Given the description of an element on the screen output the (x, y) to click on. 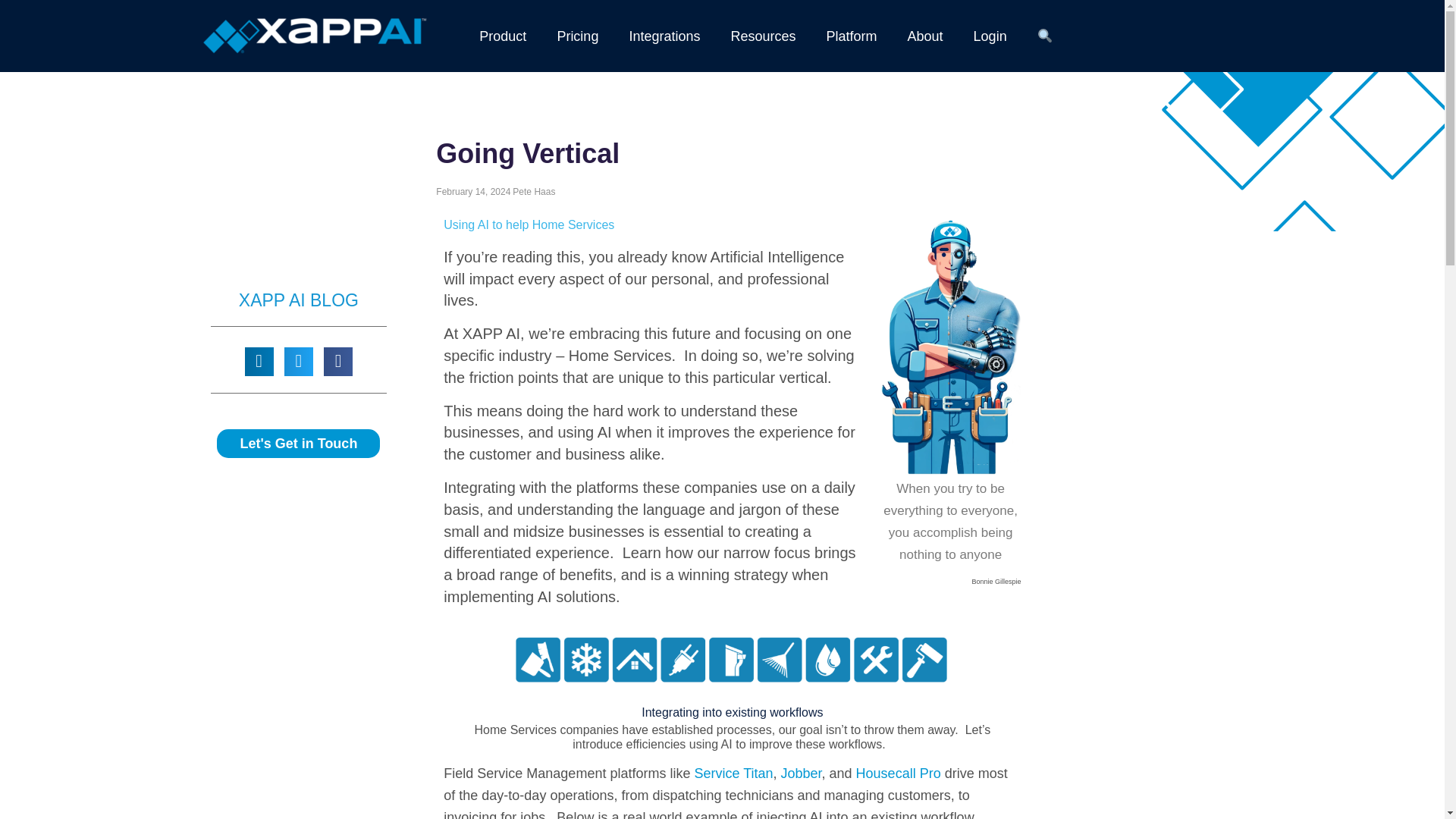
XAPP AI BLOG (298, 300)
Login (990, 35)
Let's Get in Touch (298, 443)
Housecall Pro (898, 773)
Pricing (576, 35)
Service Titan (733, 773)
Product (502, 35)
Resources (762, 35)
Platform (851, 35)
Jobber (801, 773)
About (925, 35)
Integrations (663, 35)
